Given the description of an element on the screen output the (x, y) to click on. 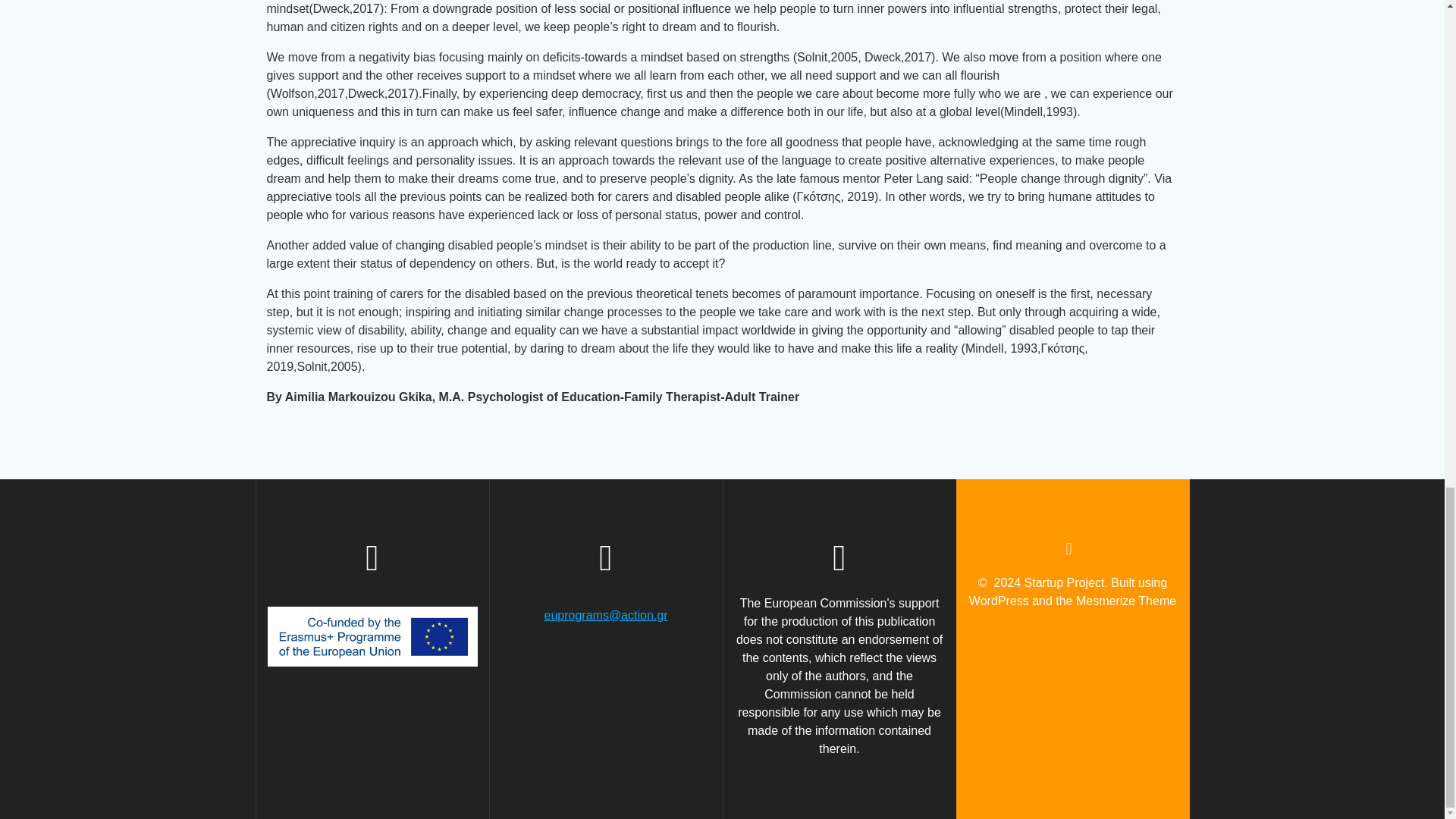
Mesmerize Theme (1125, 600)
